Given the description of an element on the screen output the (x, y) to click on. 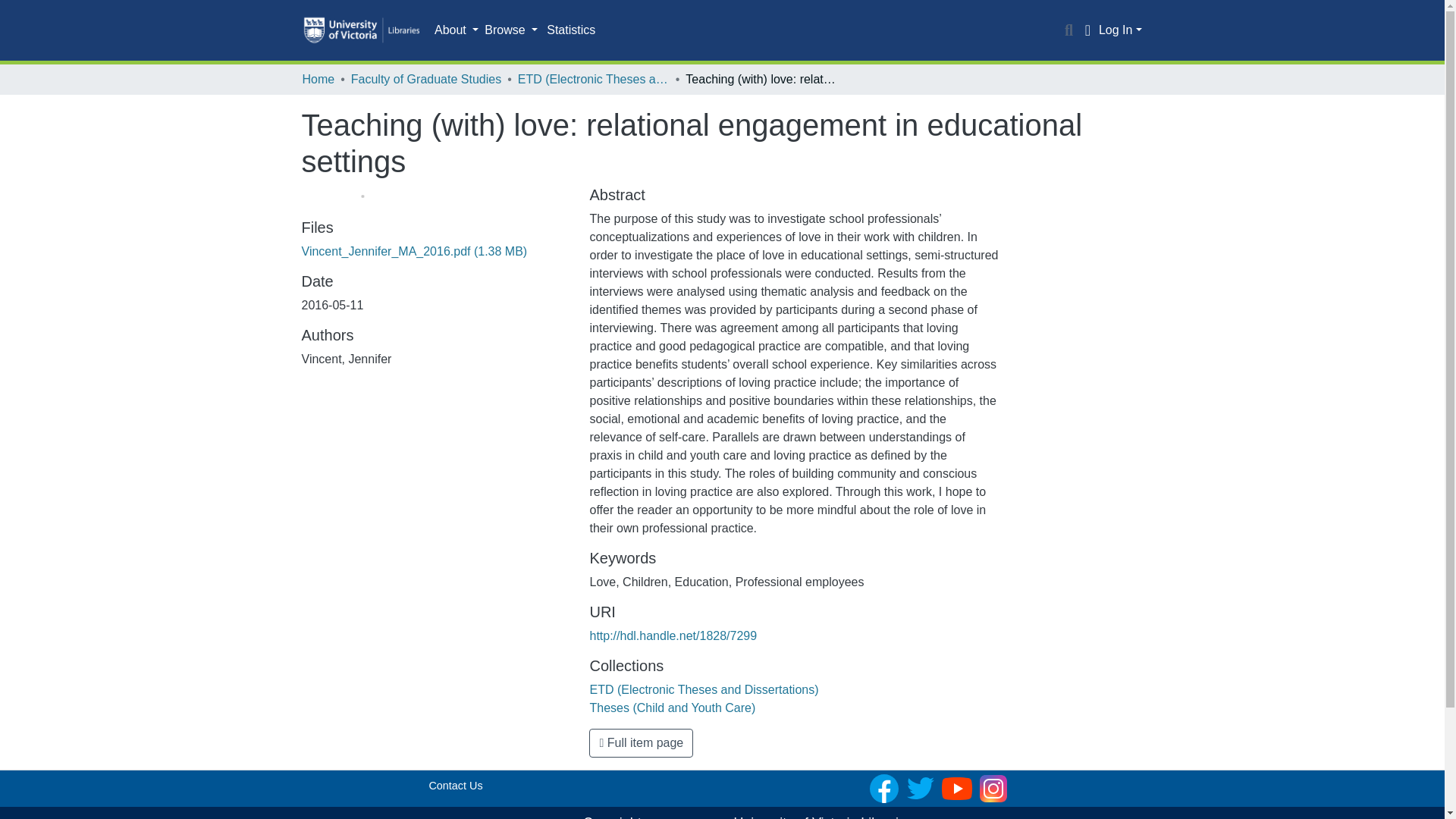
About (455, 30)
Contact Us (454, 785)
Statistics (570, 30)
Home (317, 79)
Faculty of Graduate Studies (425, 79)
Search (1068, 30)
Full item page (641, 742)
Browse (510, 30)
Log In (1119, 29)
Statistics (570, 30)
